Given the description of an element on the screen output the (x, y) to click on. 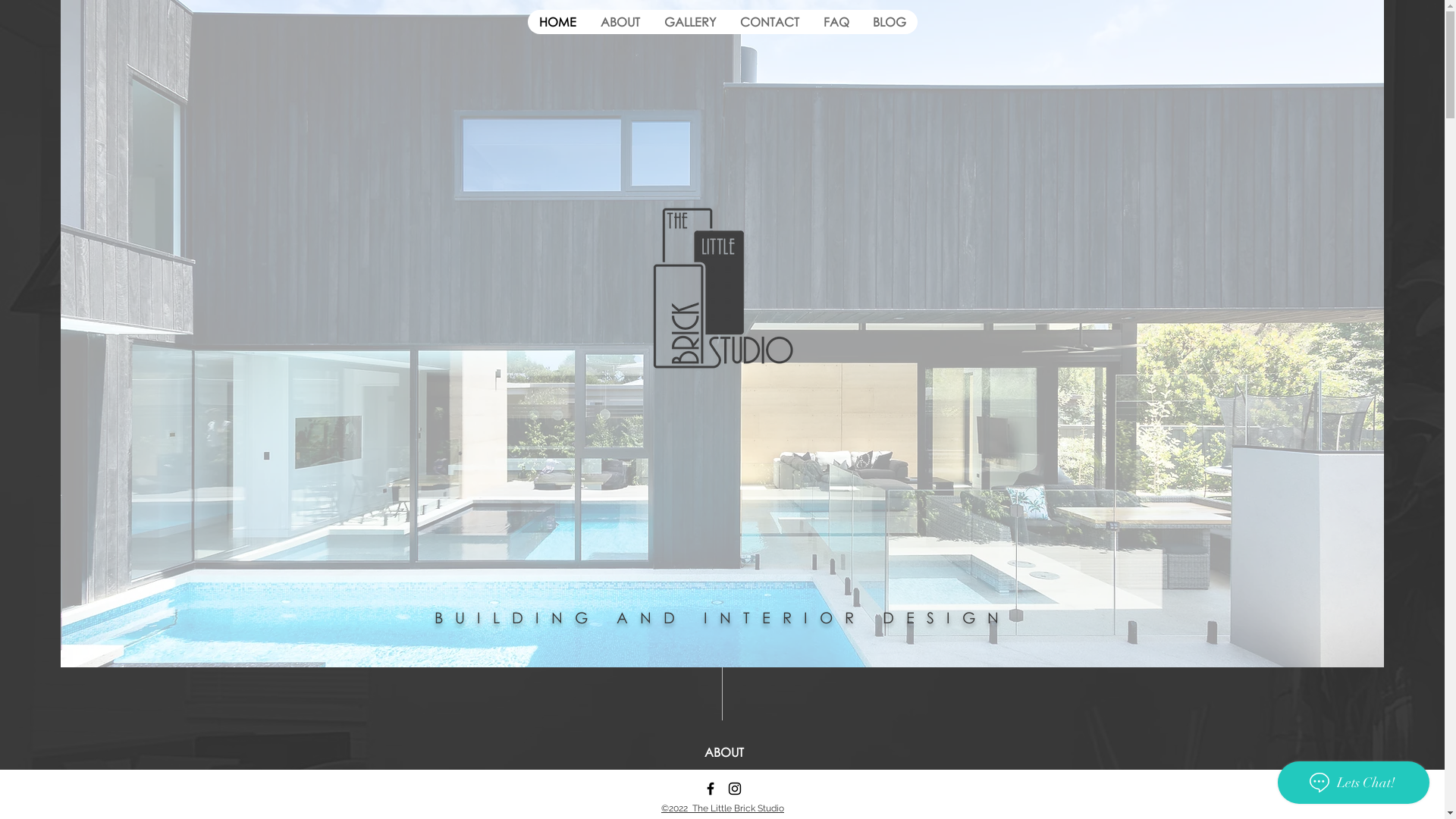
HOME Element type: text (557, 21)
GALLERY Element type: text (690, 21)
FAQ Element type: text (835, 21)
BLOG Element type: text (887, 21)
CONTACT Element type: text (769, 21)
ABOUT Element type: text (620, 21)
TWIPLA (Visitor Analytics) Element type: hover (291, 323)
